Given the description of an element on the screen output the (x, y) to click on. 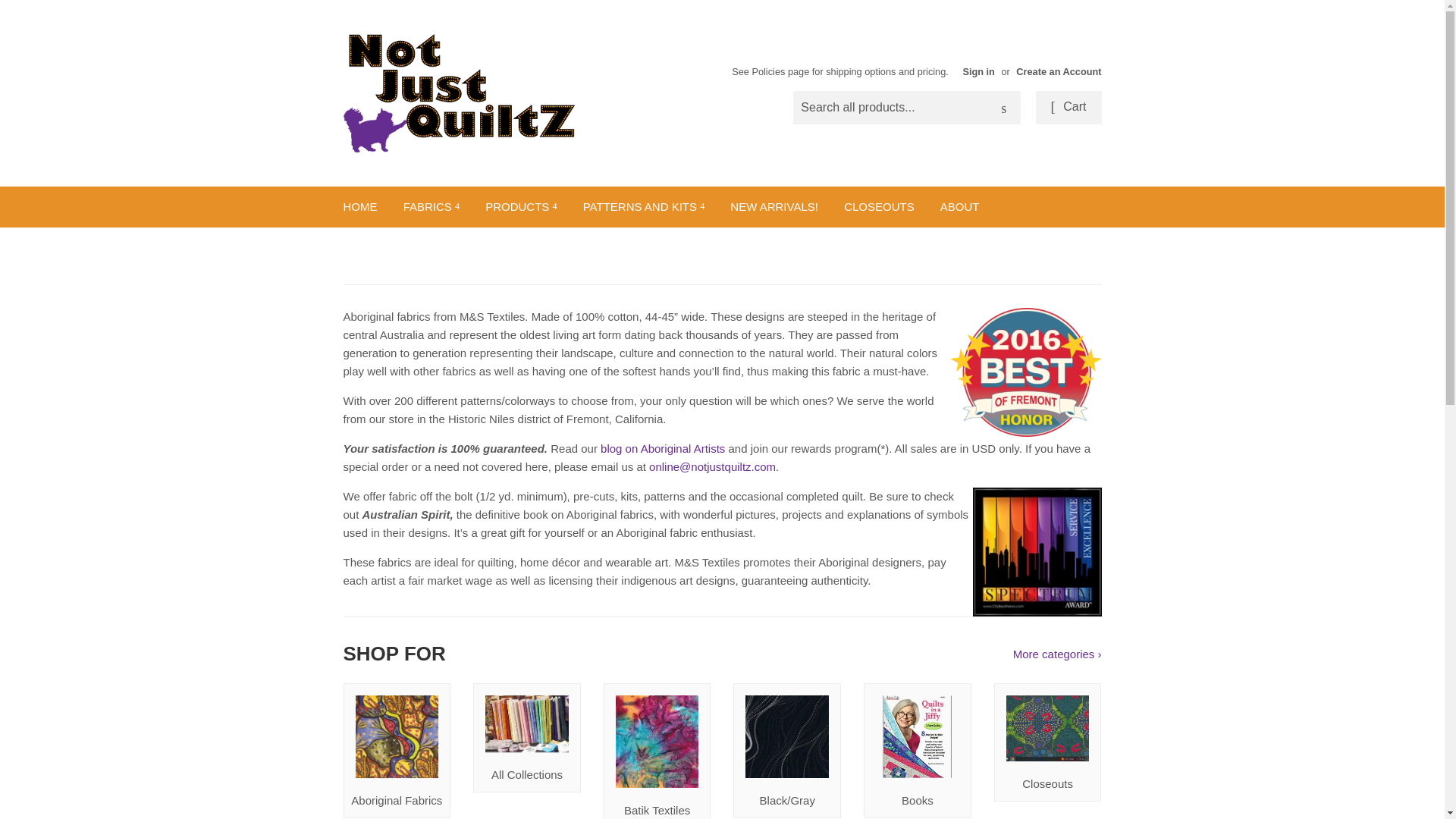
Browse our Aboriginal Fabrics collection (395, 751)
Browse our Closeouts collection (1048, 742)
Browse our All Collections collection (526, 737)
All Collections (526, 737)
Batik Textiles (657, 751)
CLOSEOUTS (879, 206)
FABRICS (430, 206)
PATTERNS AND KITS (644, 206)
ABOUT (959, 206)
Search (1003, 108)
Create an Account (1058, 71)
Browse our Batik Textiles collection (657, 751)
Cart (1068, 107)
NEW ARRIVALS! (774, 206)
HOME (359, 206)
